Given the description of an element on the screen output the (x, y) to click on. 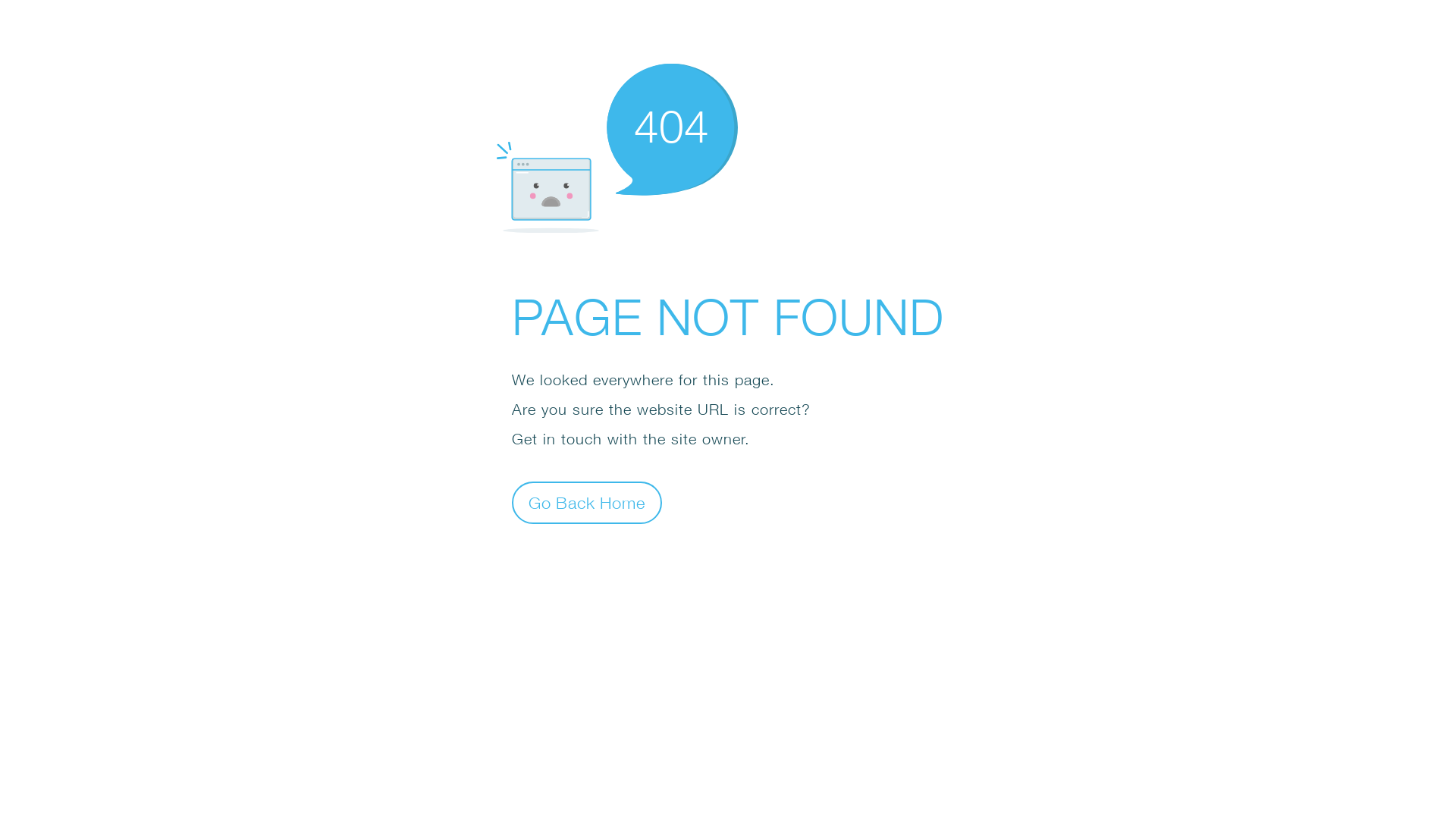
Go Back Home Element type: text (586, 502)
